Given the description of an element on the screen output the (x, y) to click on. 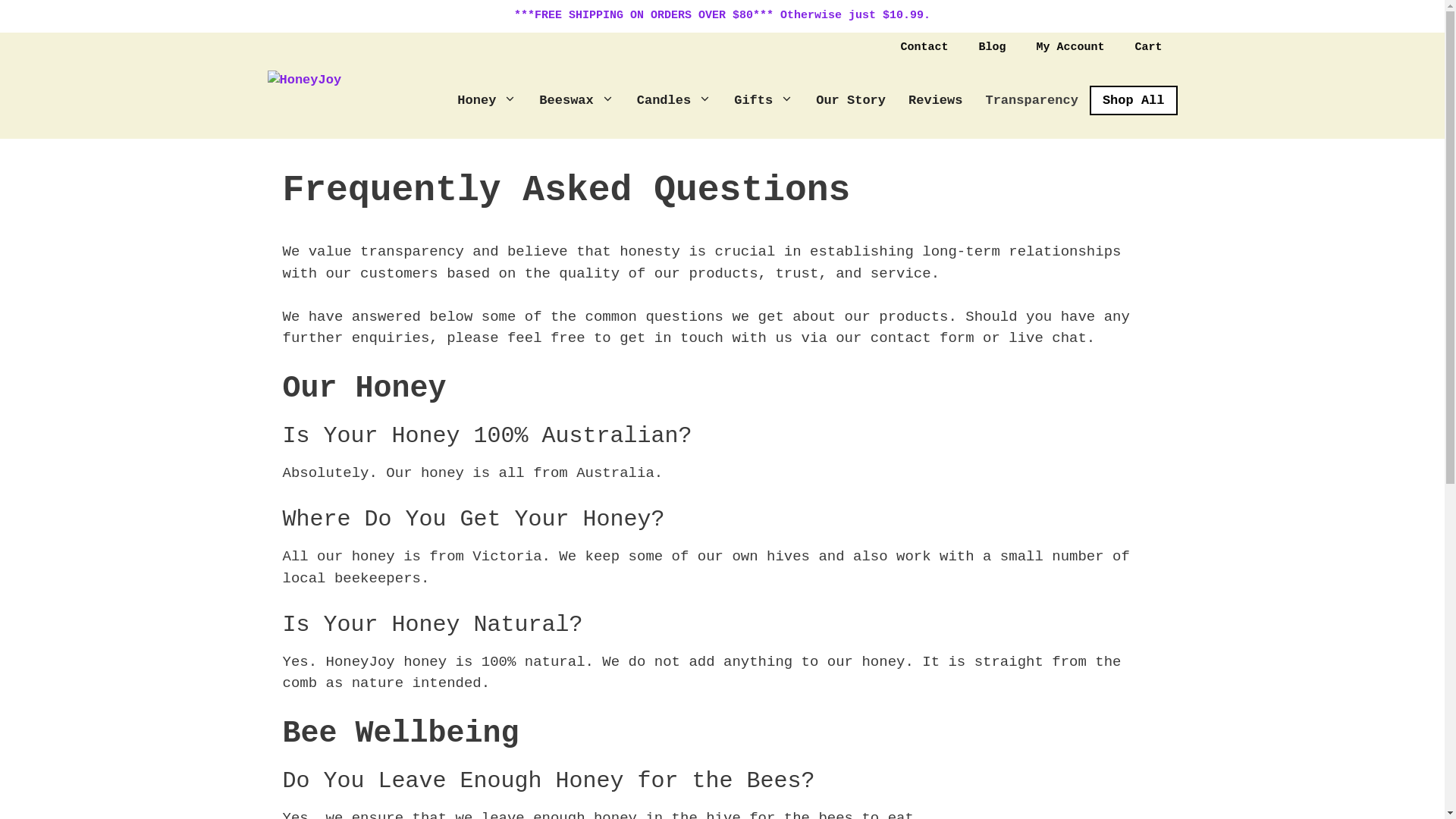
Candles Element type: text (673, 100)
Transparency Element type: text (1030, 100)
Contact Element type: text (923, 46)
Our Story Element type: text (850, 100)
HoneyJoy Element type: hover (337, 100)
Beeswax Element type: text (575, 100)
My Account Element type: text (1069, 46)
Cart Element type: text (1147, 46)
Honey Element type: text (486, 100)
Blog Element type: text (991, 46)
Shop All Element type: text (1133, 100)
Gifts Element type: text (763, 100)
Reviews Element type: text (935, 100)
